Given the description of an element on the screen output the (x, y) to click on. 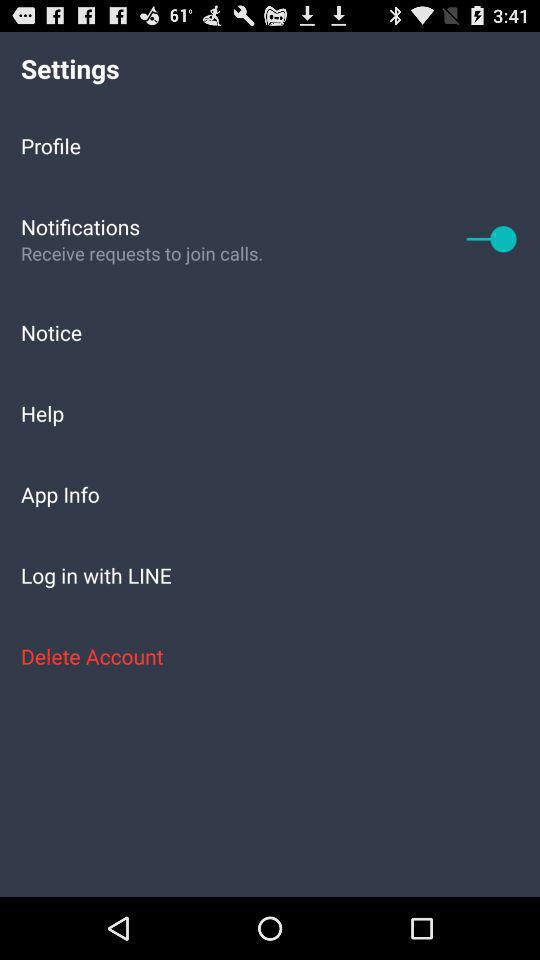
choose app below app info item (270, 574)
